Given the description of an element on the screen output the (x, y) to click on. 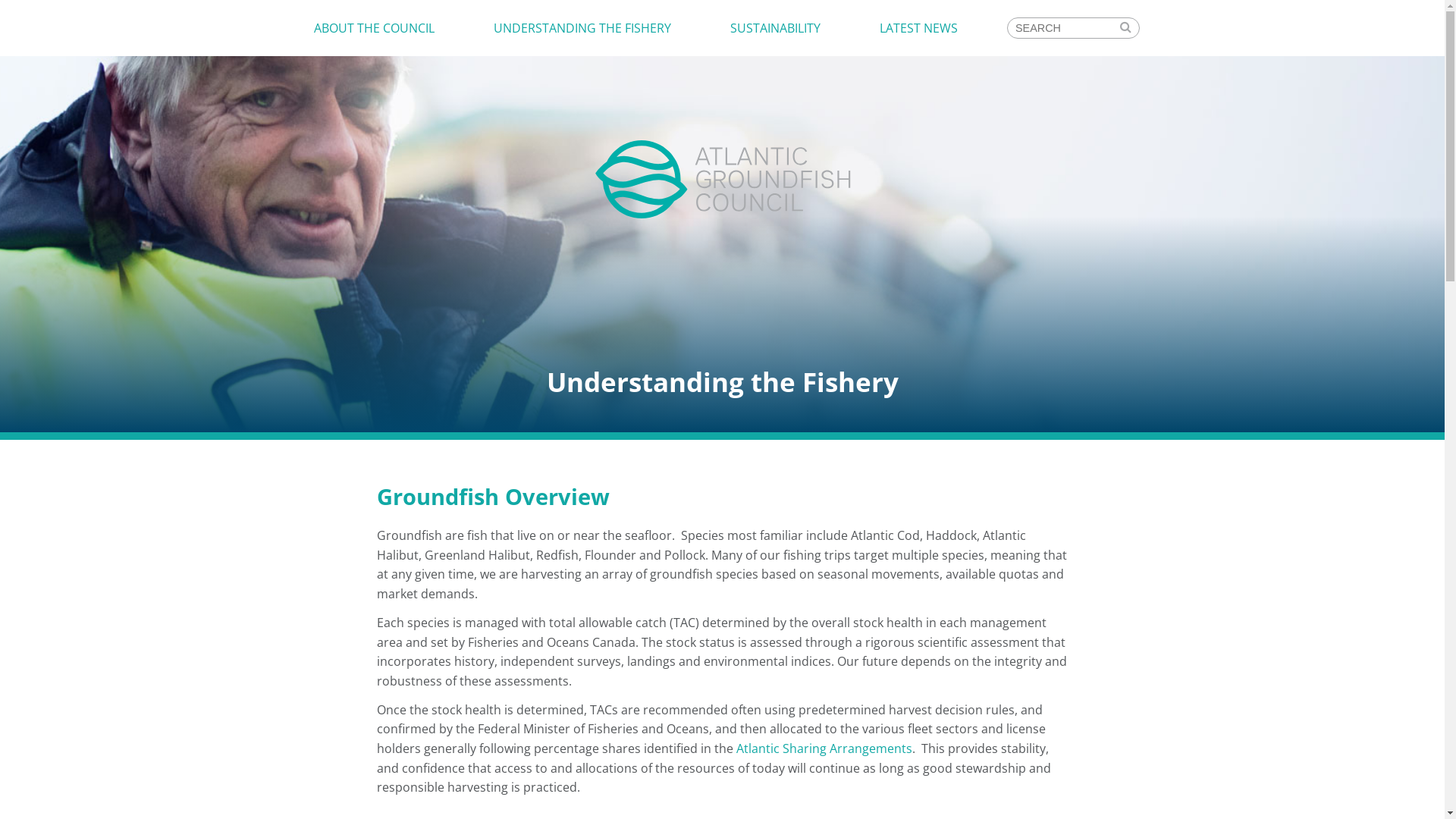
Atlantic Groundfish Council Element type: hover (722, 222)
SUSTAINABILITY Element type: text (774, 28)
ABOUT THE COUNCIL Element type: text (374, 28)
LATEST NEWS Element type: text (917, 28)
Atlantic Sharing Arrangements Element type: text (824, 748)
UNDERSTANDING THE FISHERY Element type: text (582, 28)
